Given the description of an element on the screen output the (x, y) to click on. 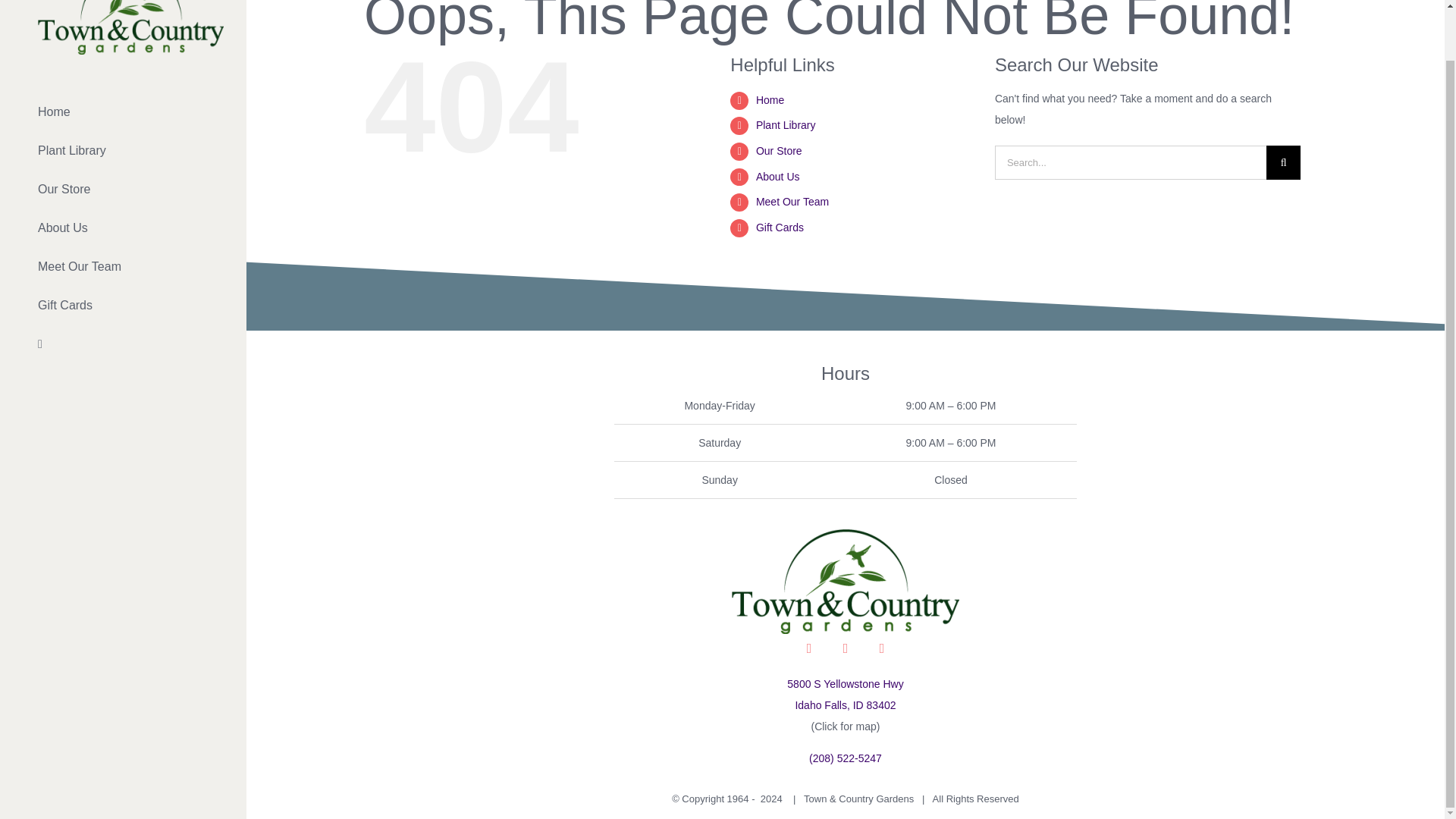
Meet Our Team (123, 267)
About Us (777, 176)
5800 S Yellowstone Hwy (844, 684)
Home (123, 111)
Plant Library (785, 124)
Meet Our Team (791, 201)
Our Store (123, 189)
Gift Cards (123, 305)
Plant Library (123, 150)
Gift Cards (779, 227)
